Given the description of an element on the screen output the (x, y) to click on. 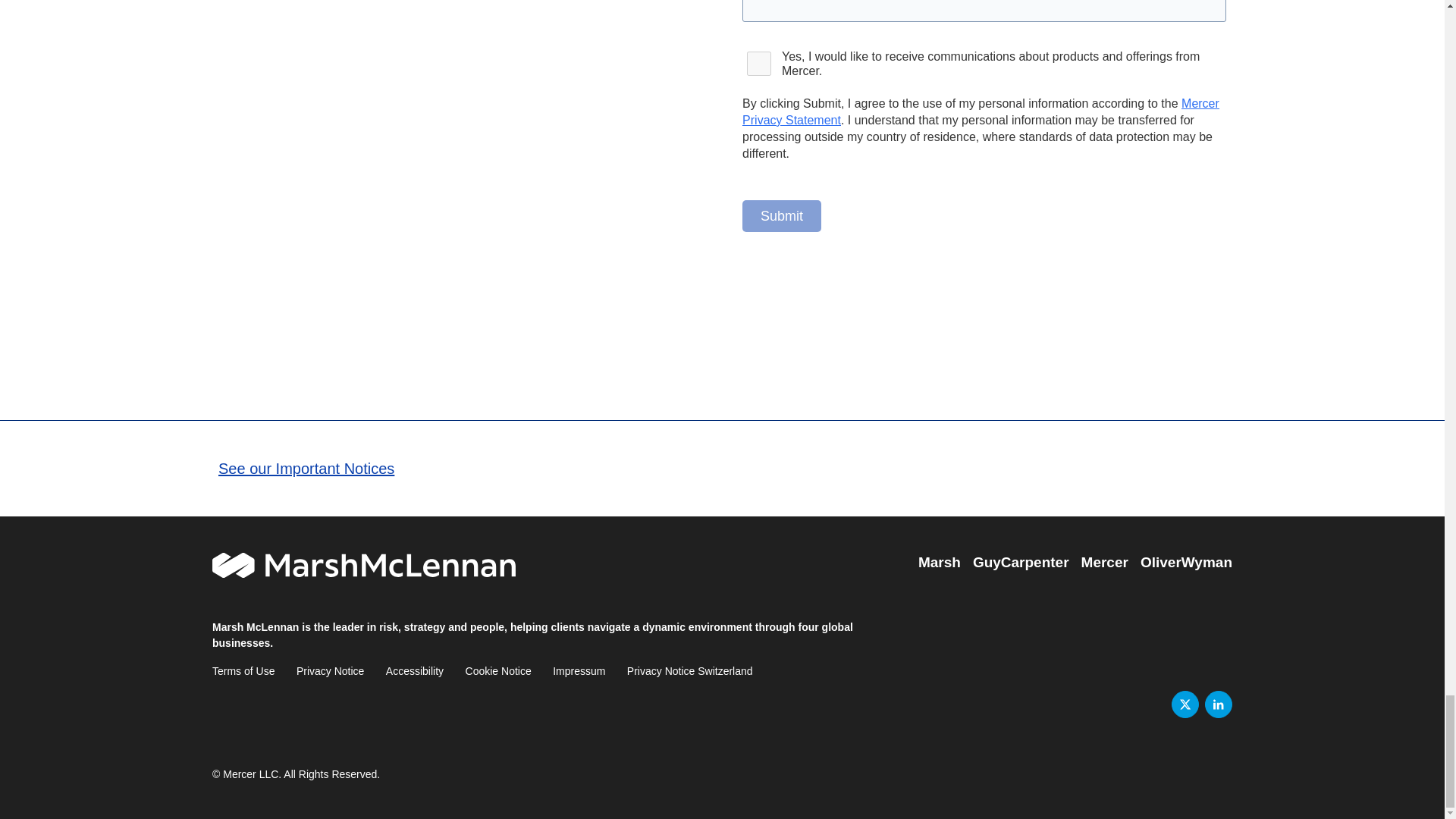
GuyCarpenter (1020, 562)
Mercer Privacy Statement (981, 111)
Terms of Use (243, 671)
Privacy Notice Switzerland (689, 671)
yes (759, 63)
Cookie Notice (498, 671)
Privacy Notice (330, 671)
Submit (781, 215)
Accessibility (414, 671)
See our Important Notices (306, 468)
Marsh (939, 562)
OliverWyman (1185, 562)
Link to Mercer's Important Notices (306, 468)
Mercer (1104, 562)
Impressum (579, 671)
